Given the description of an element on the screen output the (x, y) to click on. 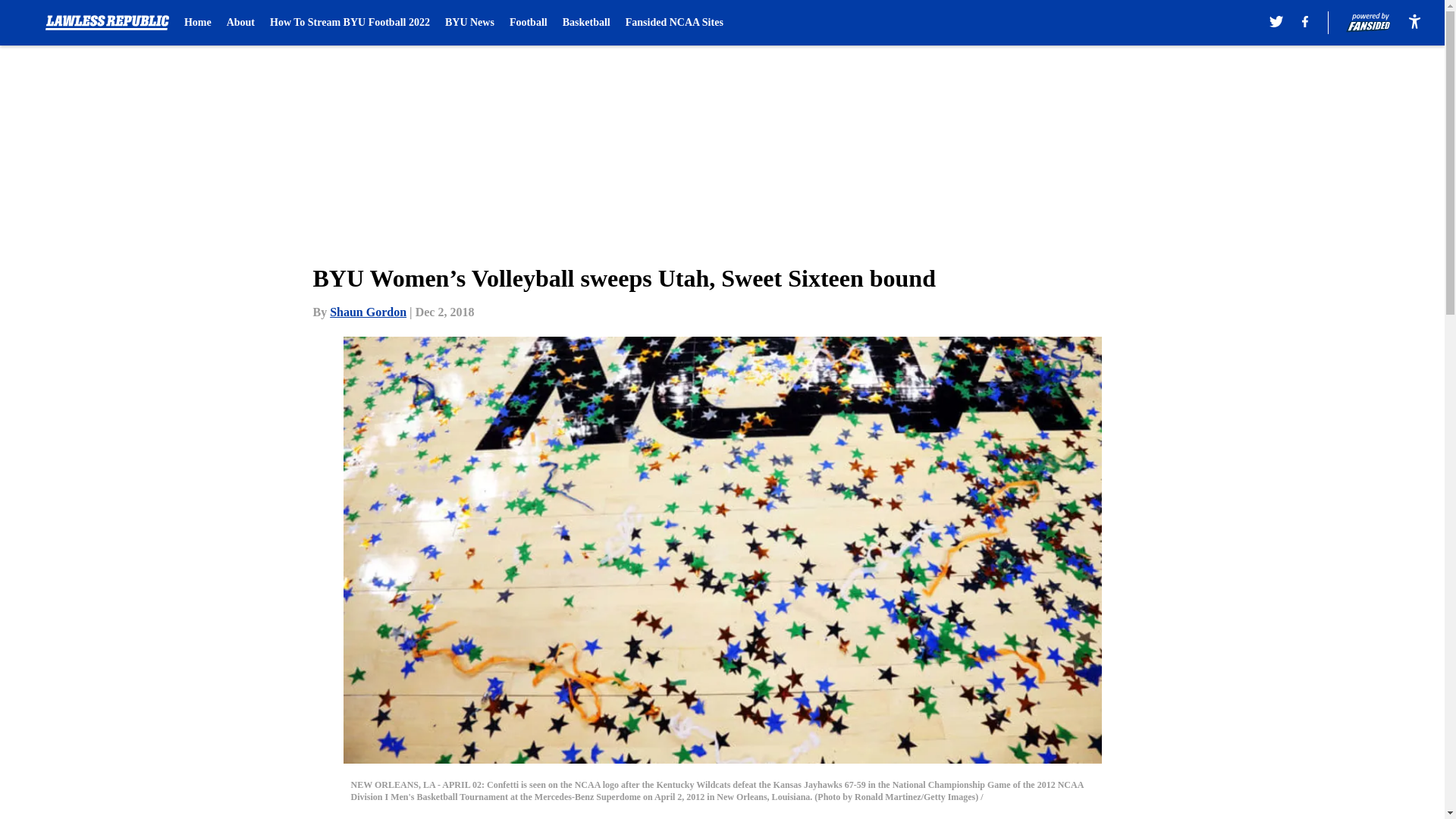
Fansided NCAA Sites (674, 22)
How To Stream BYU Football 2022 (349, 22)
Shaun Gordon (368, 311)
Home (197, 22)
Basketball (586, 22)
Football (528, 22)
About (240, 22)
BYU News (470, 22)
